Given the description of an element on the screen output the (x, y) to click on. 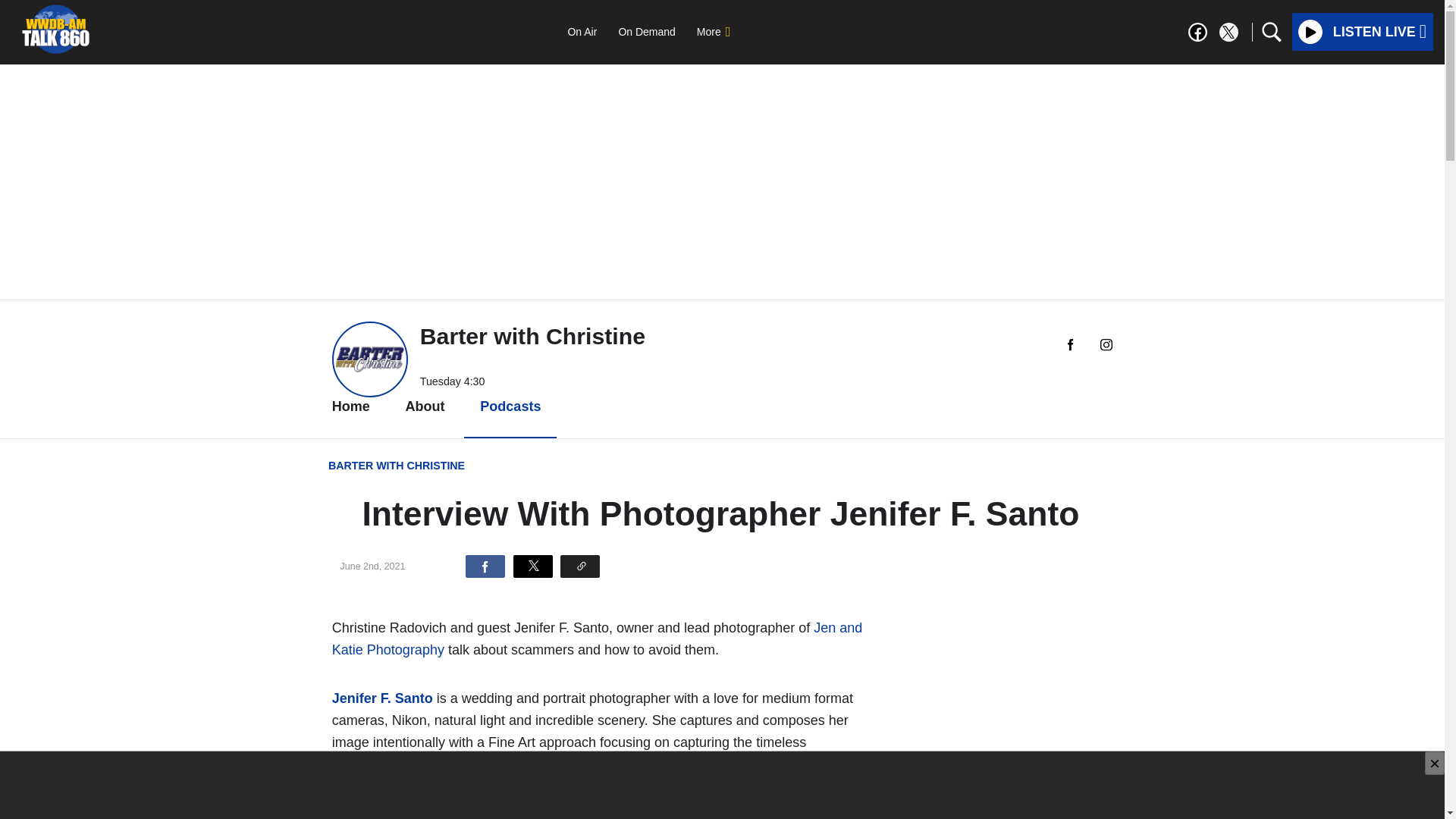
About (425, 406)
More (713, 31)
BARTER WITH CHRISTINE (396, 465)
On Air (581, 31)
Home (350, 406)
On Demand (646, 31)
Podcasts (510, 406)
